Given the description of an element on the screen output the (x, y) to click on. 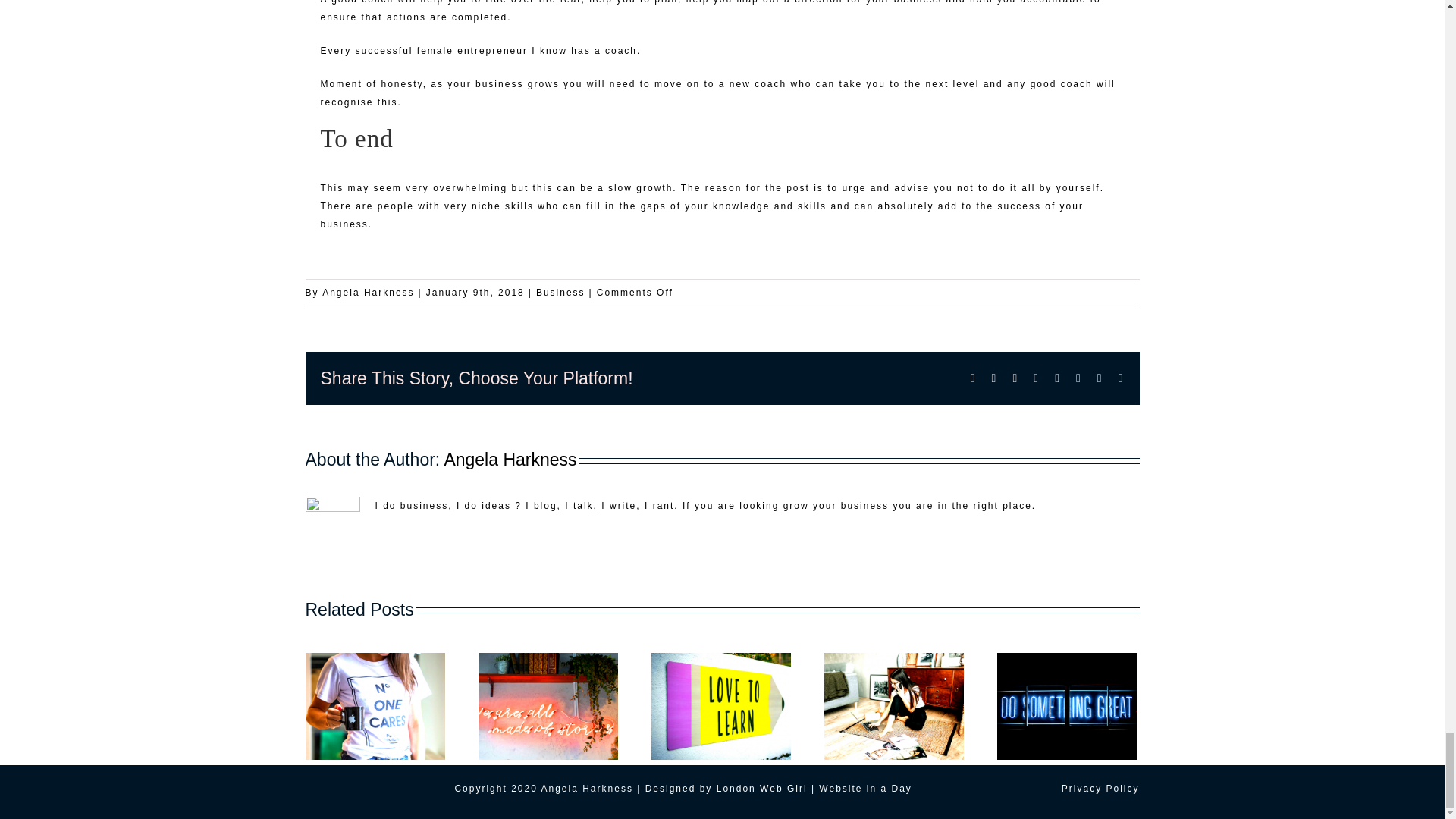
Posts by Angela Harkness (510, 459)
Angela Harkness (510, 459)
Angela Harkness (367, 292)
Business (560, 292)
Posts by Angela Harkness (367, 292)
